Given the description of an element on the screen output the (x, y) to click on. 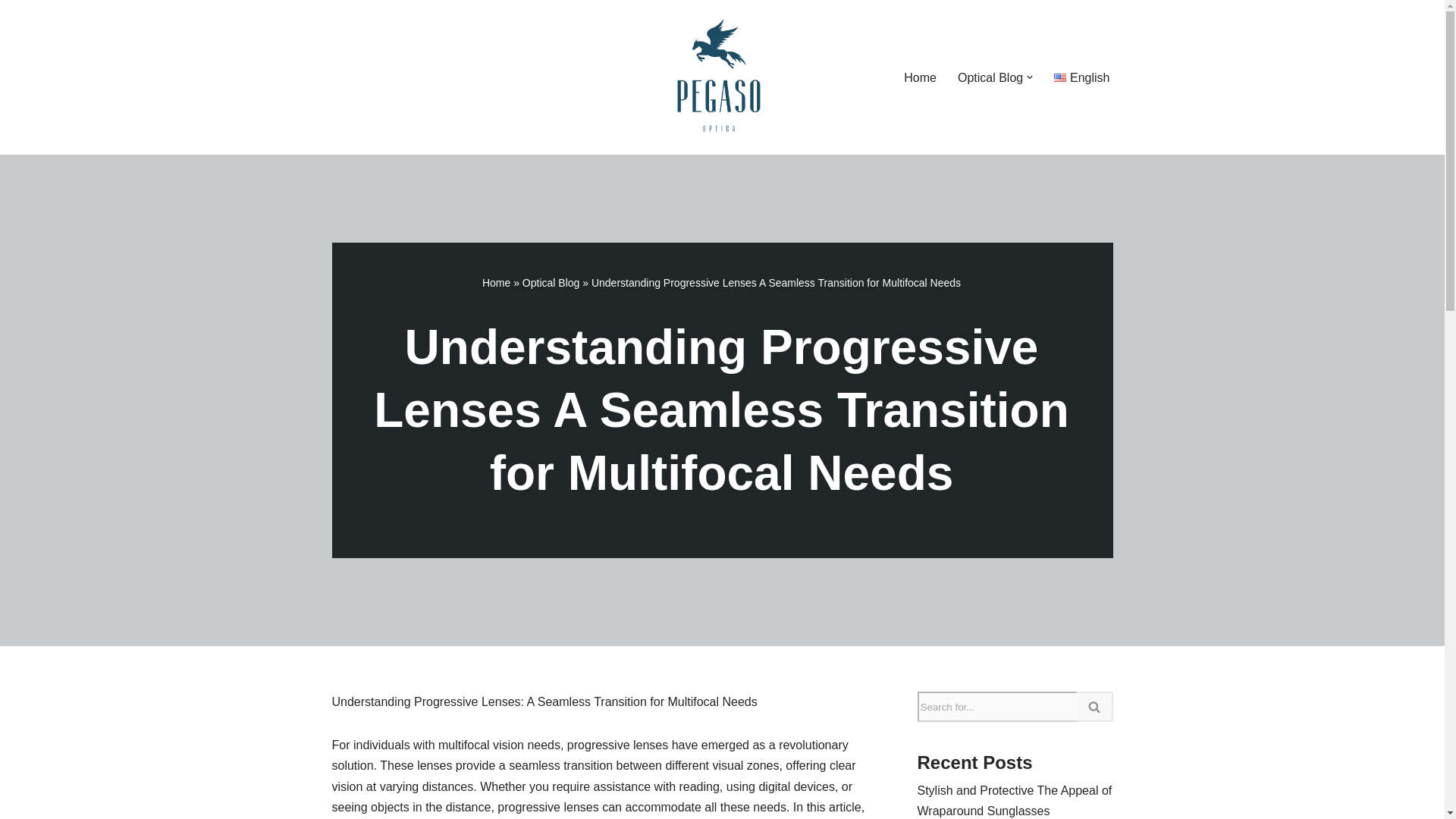
Home (920, 77)
Optical Blog (990, 77)
Skip to content (11, 31)
Stylish and Protective The Appeal of Wraparound Sunglasses (1014, 800)
Home (496, 282)
Optical Blog (550, 282)
English (1081, 77)
